Given the description of an element on the screen output the (x, y) to click on. 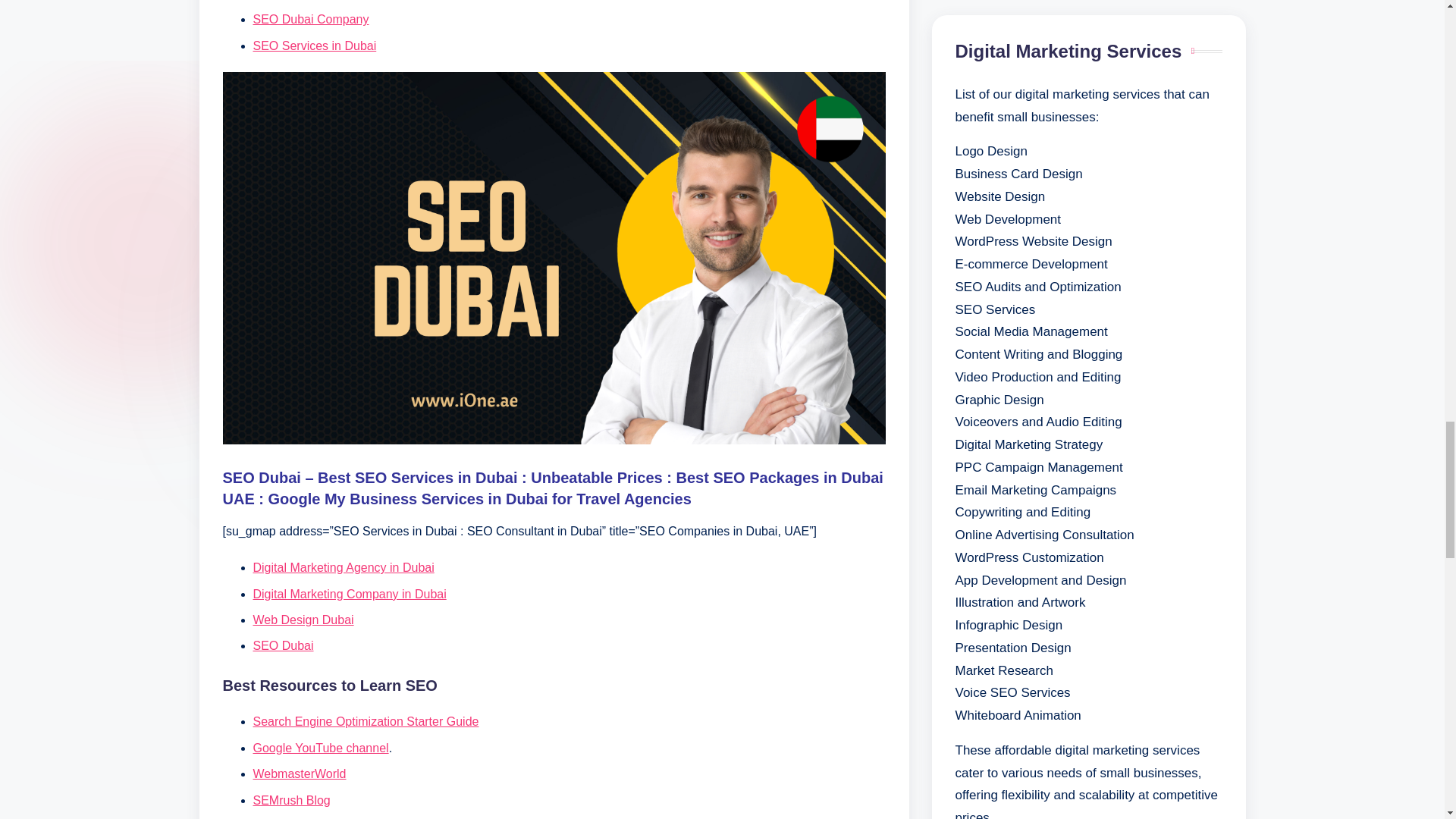
Digital Marketing Company in Dubai (349, 594)
Search Engine Optimization Starter Guide (366, 721)
WebmasterWorld (299, 773)
SEMrush Blog (291, 799)
SEO Services in Dubai (315, 45)
Google YouTube channel (320, 748)
Digital Marketing Agency in Dubai (343, 567)
SEO Dubai Company (311, 19)
Web Design Dubai (303, 619)
SEO Dubai (283, 645)
